Given the description of an element on the screen output the (x, y) to click on. 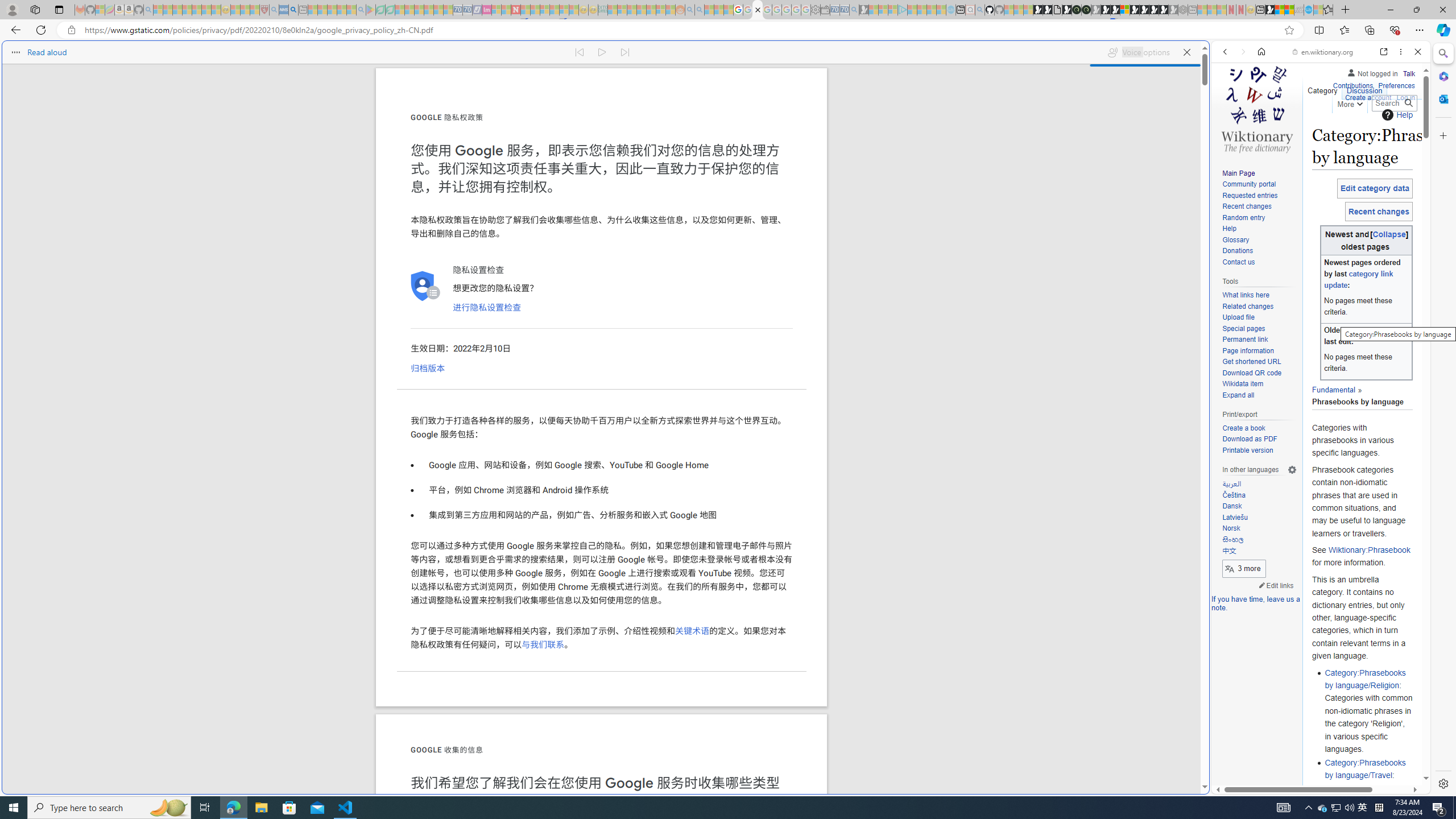
Log in (1405, 98)
Recent changes (1259, 206)
Contributions (1352, 84)
Random entry (1259, 218)
Requested entries (1259, 196)
Recent changes (1246, 206)
